Given the description of an element on the screen output the (x, y) to click on. 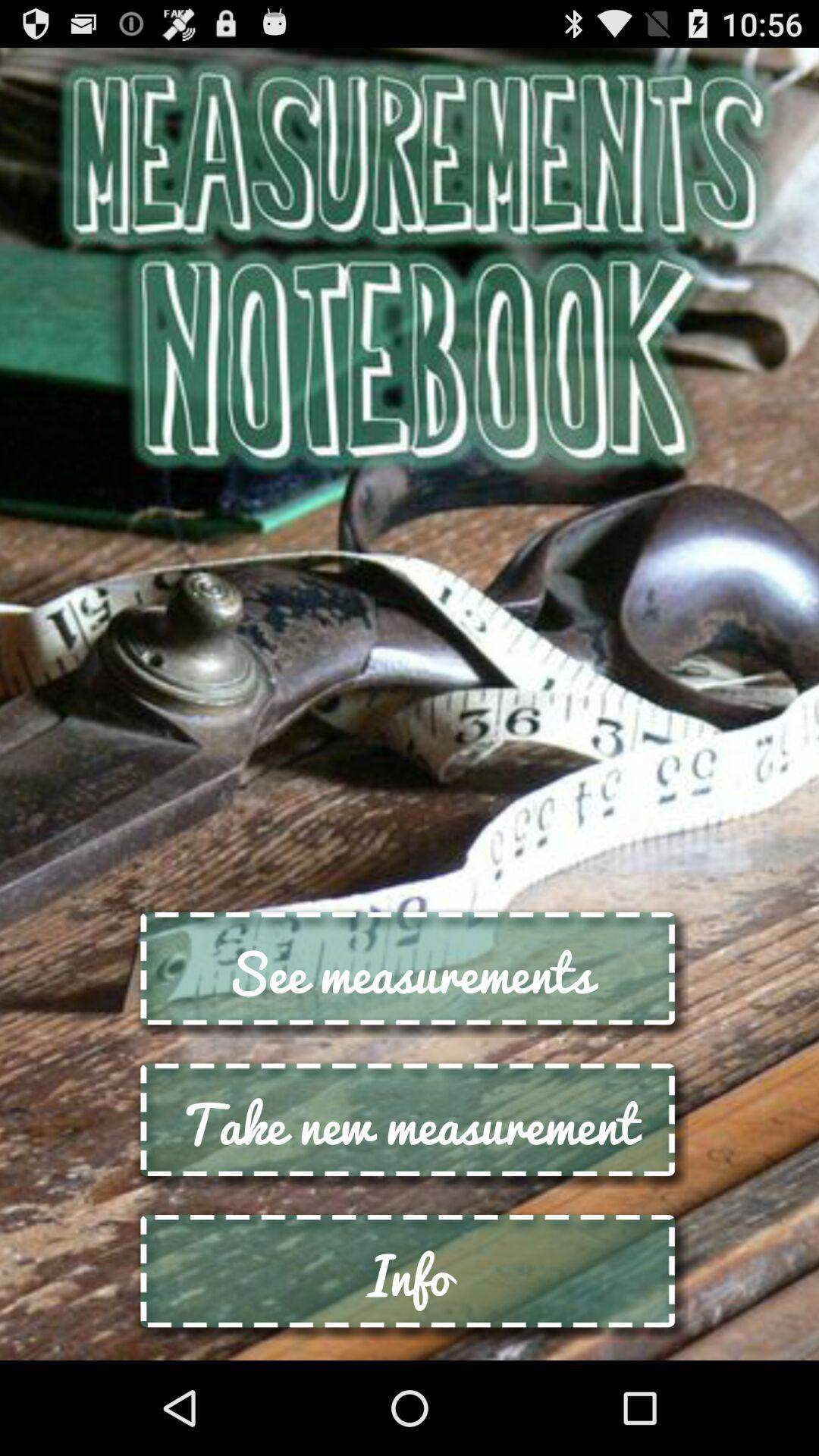
turn on the button below see measurements icon (409, 1123)
